Given the description of an element on the screen output the (x, y) to click on. 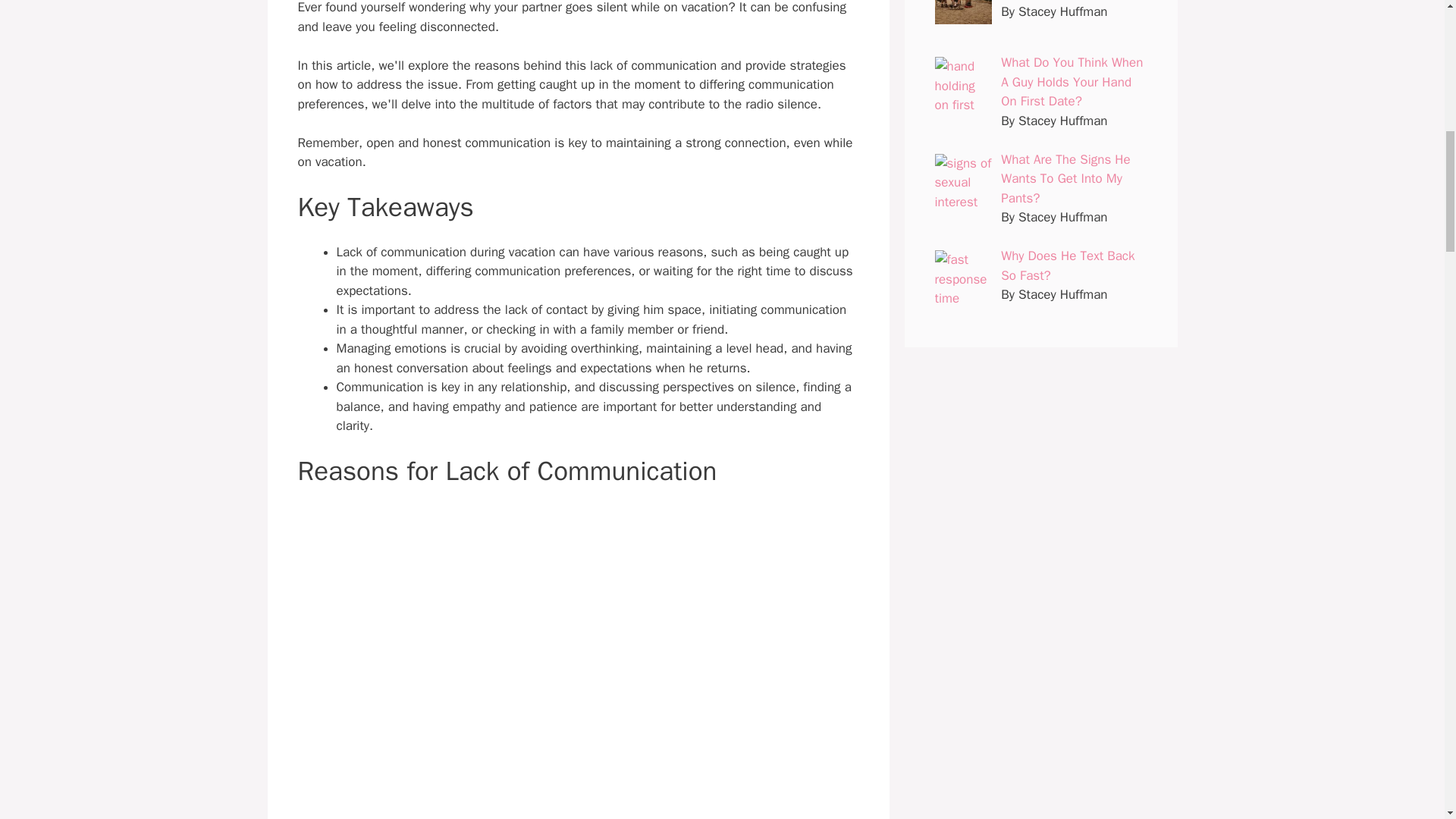
What Do You Think When A Guy Holds Your Hand On First Date? (1071, 81)
What Are The Signs He Wants To Get Into My Pants? (1065, 178)
Why Does He Text Back So Fast? (1067, 265)
